Given the description of an element on the screen output the (x, y) to click on. 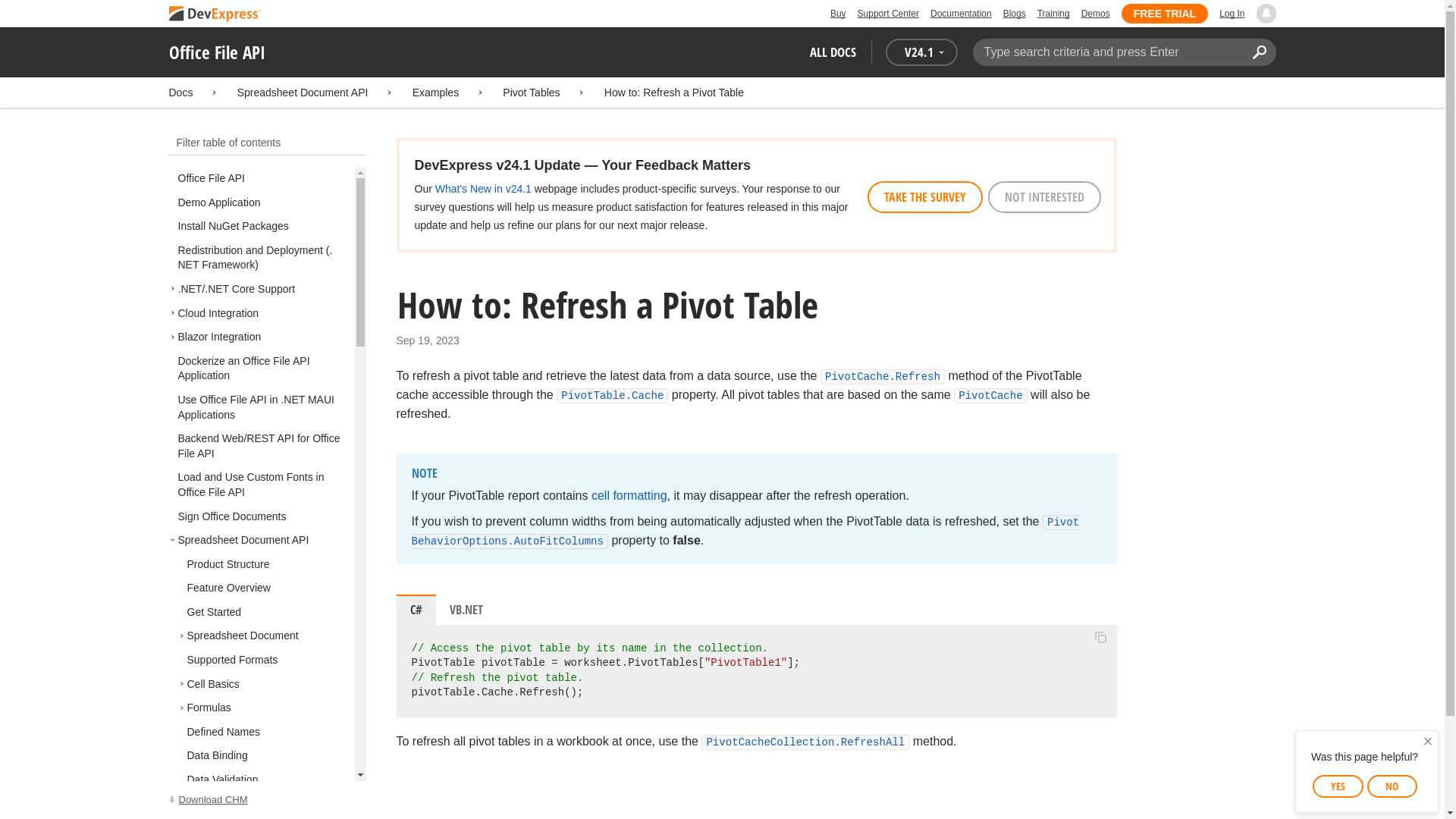
Log In (1232, 13)
How to: Refresh a Pivot Table (674, 92)
ALL DOCS (832, 52)
FREE TRIAL (1164, 13)
Support Center (887, 13)
Docs (180, 92)
Office File API, v24.1 (266, 800)
DevExpress (214, 14)
Demos (1095, 13)
V 24.1 (921, 52)
